Given the description of an element on the screen output the (x, y) to click on. 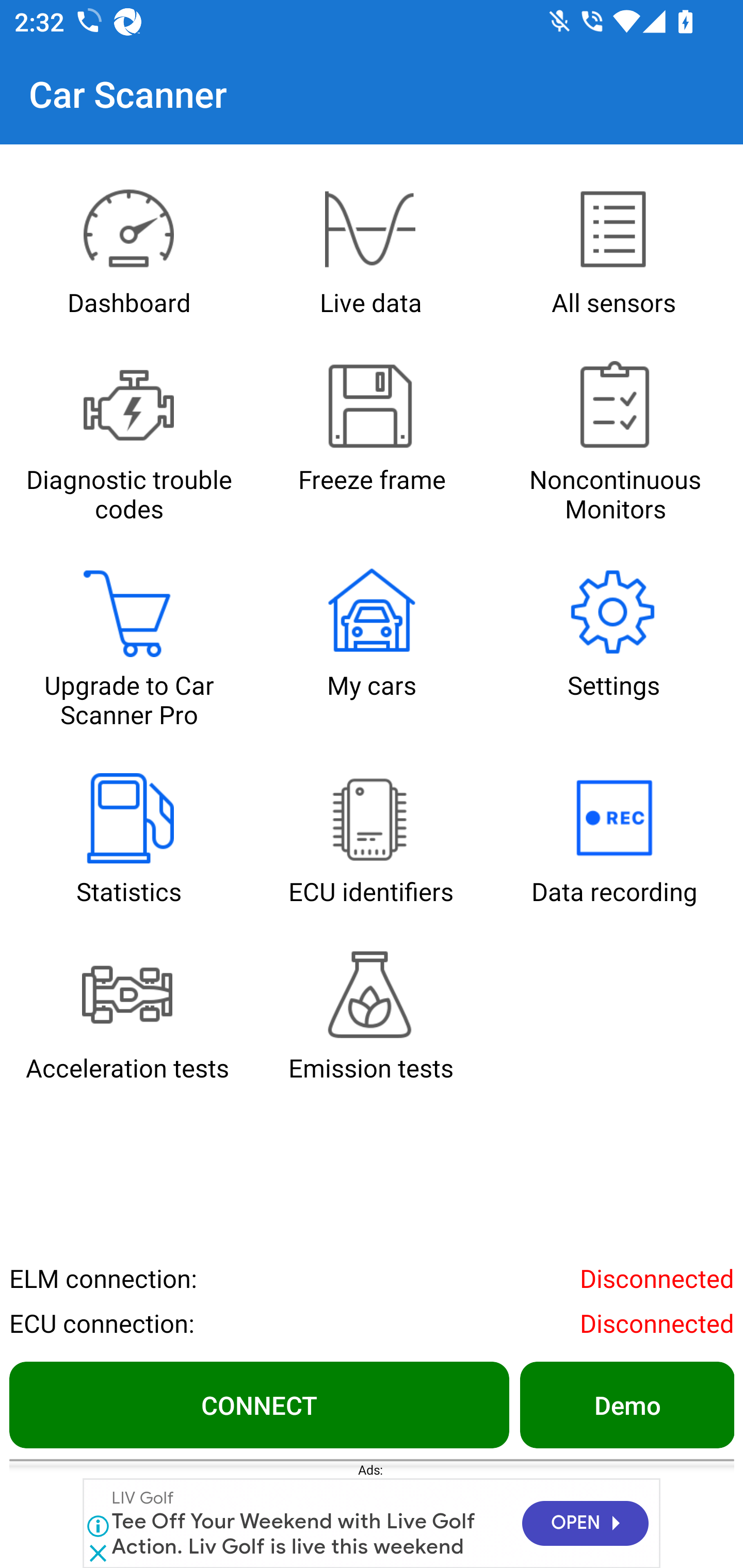
CONNECT (258, 1404)
Demo (627, 1404)
LIV Golf (142, 1497)
OPEN (584, 1523)
